Given the description of an element on the screen output the (x, y) to click on. 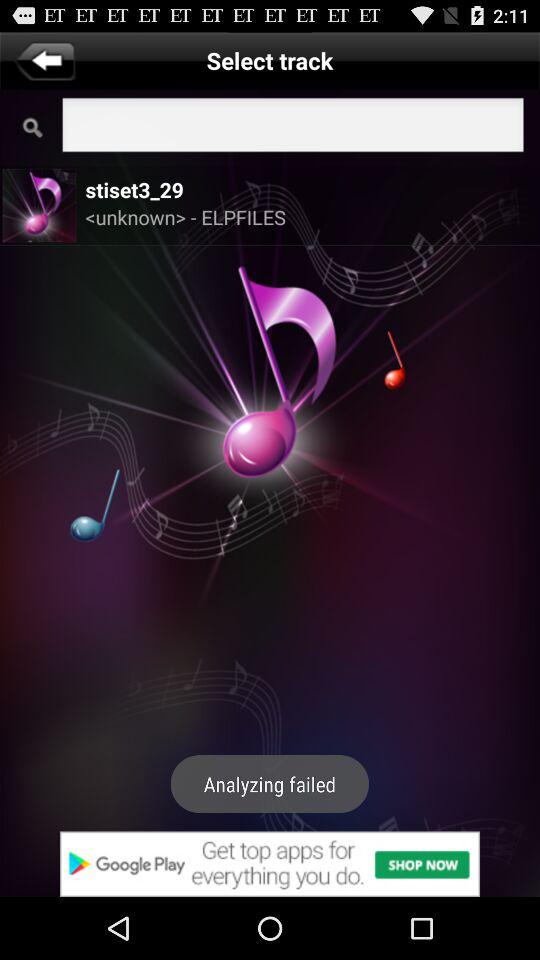
enter search terms (292, 127)
